Given the description of an element on the screen output the (x, y) to click on. 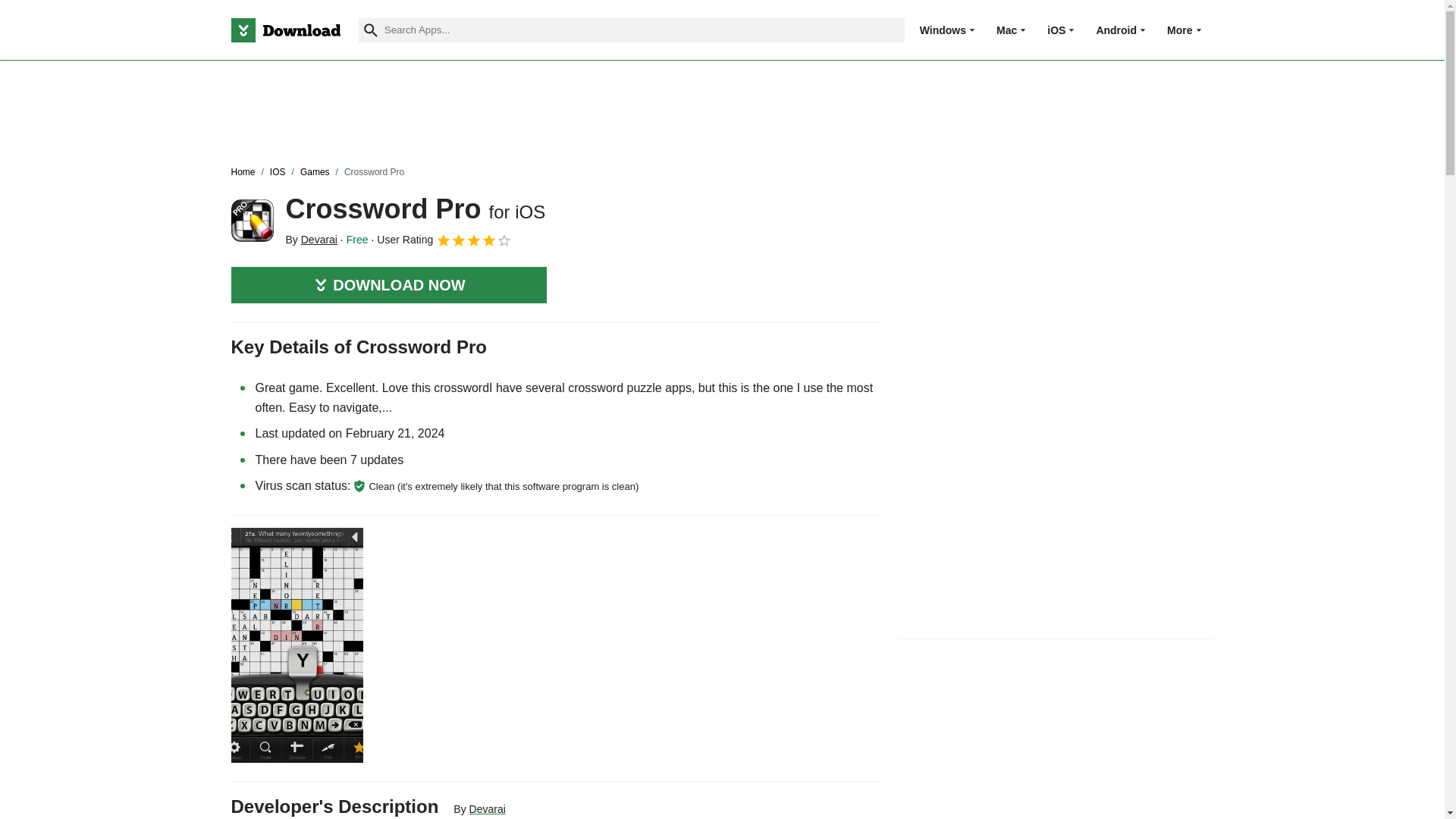
Crossword Pro for iOS (251, 220)
Windows (943, 29)
Mac (1005, 29)
